Given the description of an element on the screen output the (x, y) to click on. 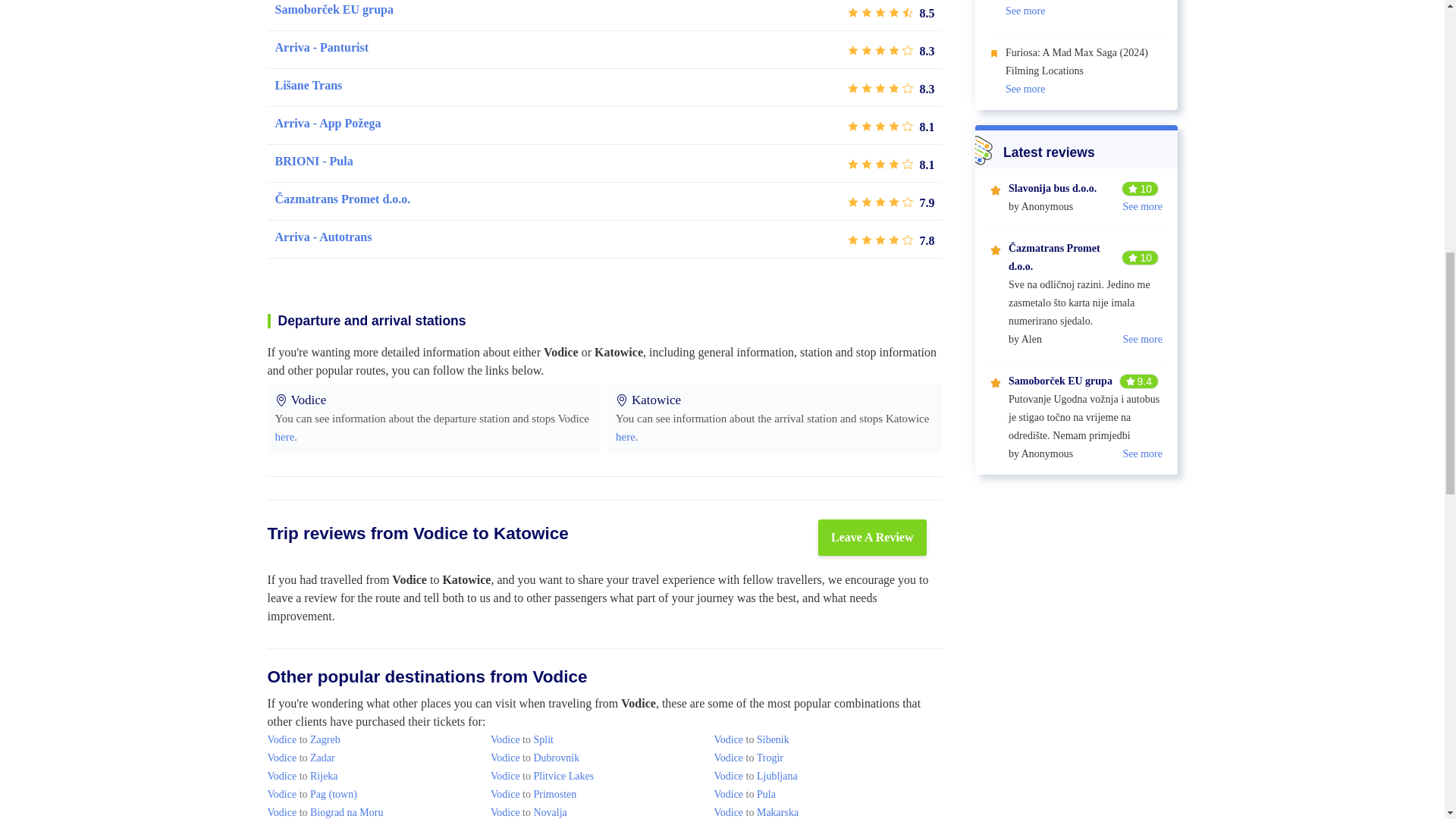
Vodice to Dubrovnik (534, 757)
here (284, 436)
Vodice to Rijeka (301, 776)
Vodice to Zagreb (302, 739)
Leave A Review (872, 537)
Vodice to Sibenik (751, 739)
Arriva - Autotrans (323, 237)
Arriva - Panturist (321, 47)
Vodice to Split (521, 739)
BRIONI - Pula (313, 161)
